Given the description of an element on the screen output the (x, y) to click on. 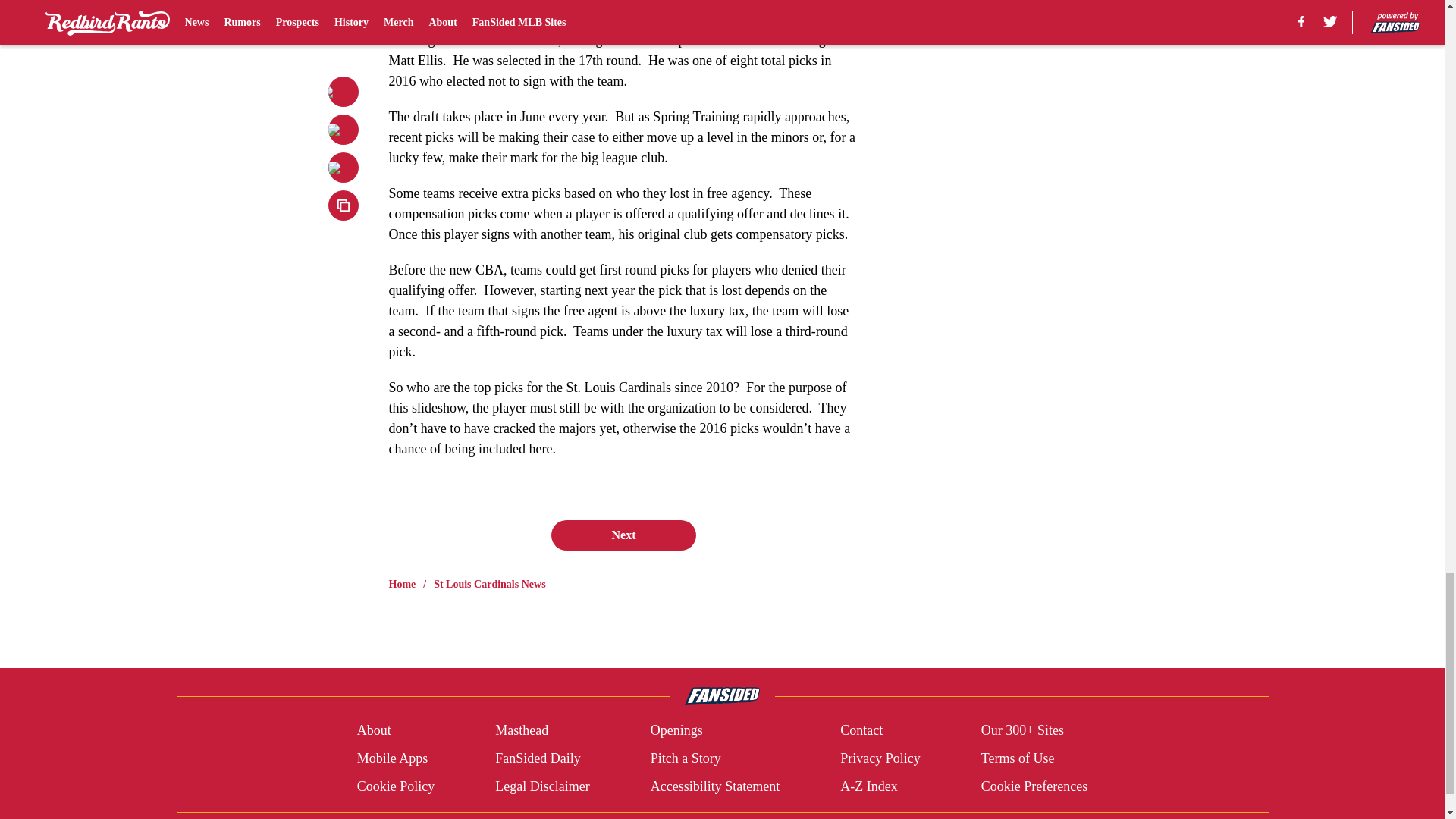
St Louis Cardinals News (488, 584)
Next (622, 535)
Home (401, 584)
Masthead (521, 730)
About (373, 730)
Openings (676, 730)
